Given the description of an element on the screen output the (x, y) to click on. 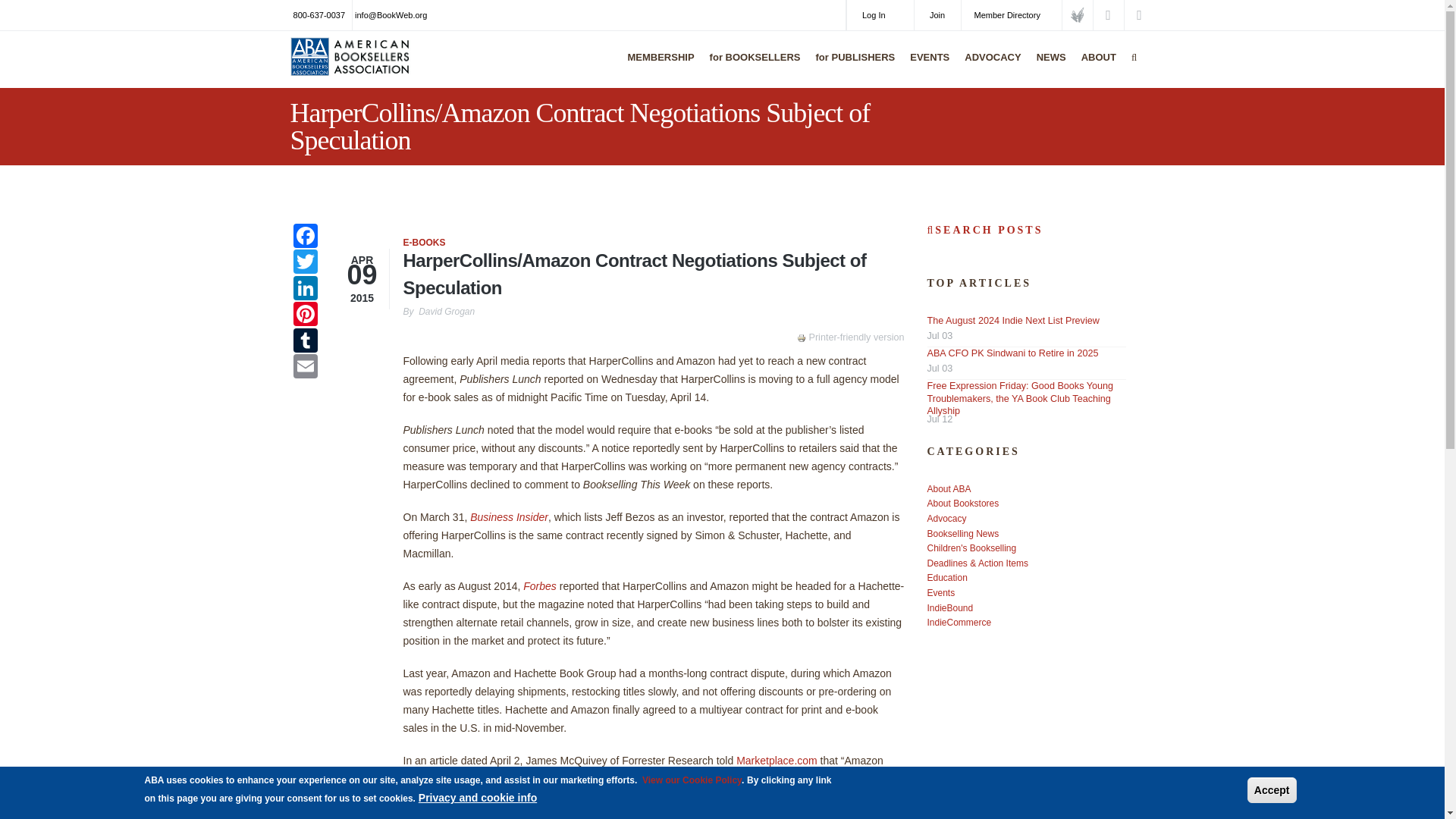
ADVOCACY (989, 66)
Join (937, 15)
Member Directory (1010, 15)
View our Cookie Policy (691, 779)
for BOOKSELLERS (751, 66)
NEWS (1047, 66)
MEMBERSHIP (656, 66)
Log In (880, 15)
Printer-friendly version (802, 338)
Display a printer-friendly version of this page. (850, 337)
Privacy and cookie info (478, 797)
MEMBERSHIP (656, 66)
ABOUT (1094, 66)
Accept (1272, 790)
EVENTS (925, 66)
